Given the description of an element on the screen output the (x, y) to click on. 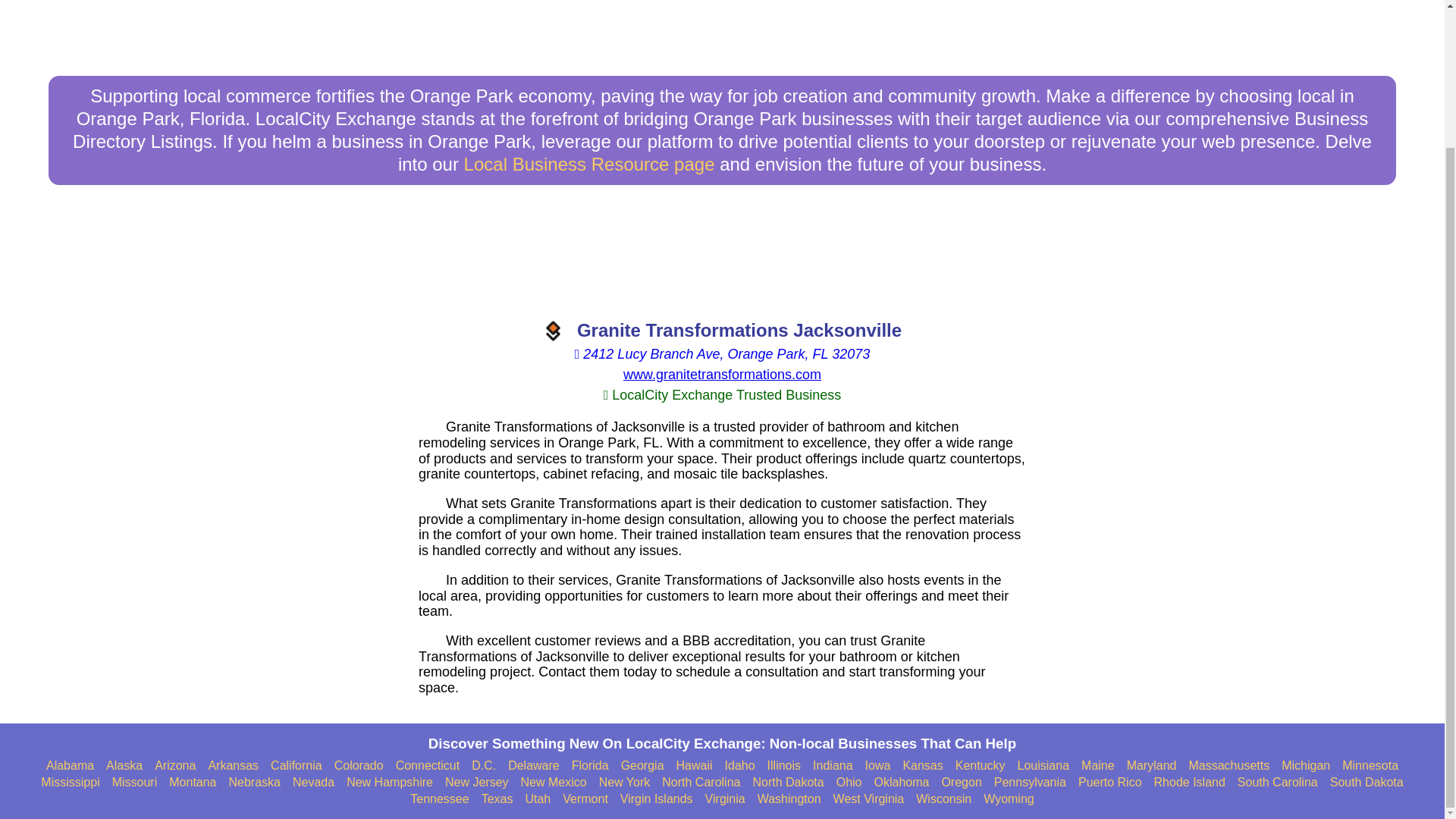
View on Google Maps (721, 353)
Massachusetts (1228, 766)
Find Businesses in Delaware (533, 766)
Find Businesses in Florida (590, 766)
Nevada (313, 782)
New Jersey (476, 782)
Find Businesses in California (295, 766)
Kentucky (980, 766)
Find Businesses in Georgia (642, 766)
Find Businesses in Arkansas (233, 766)
